Given the description of an element on the screen output the (x, y) to click on. 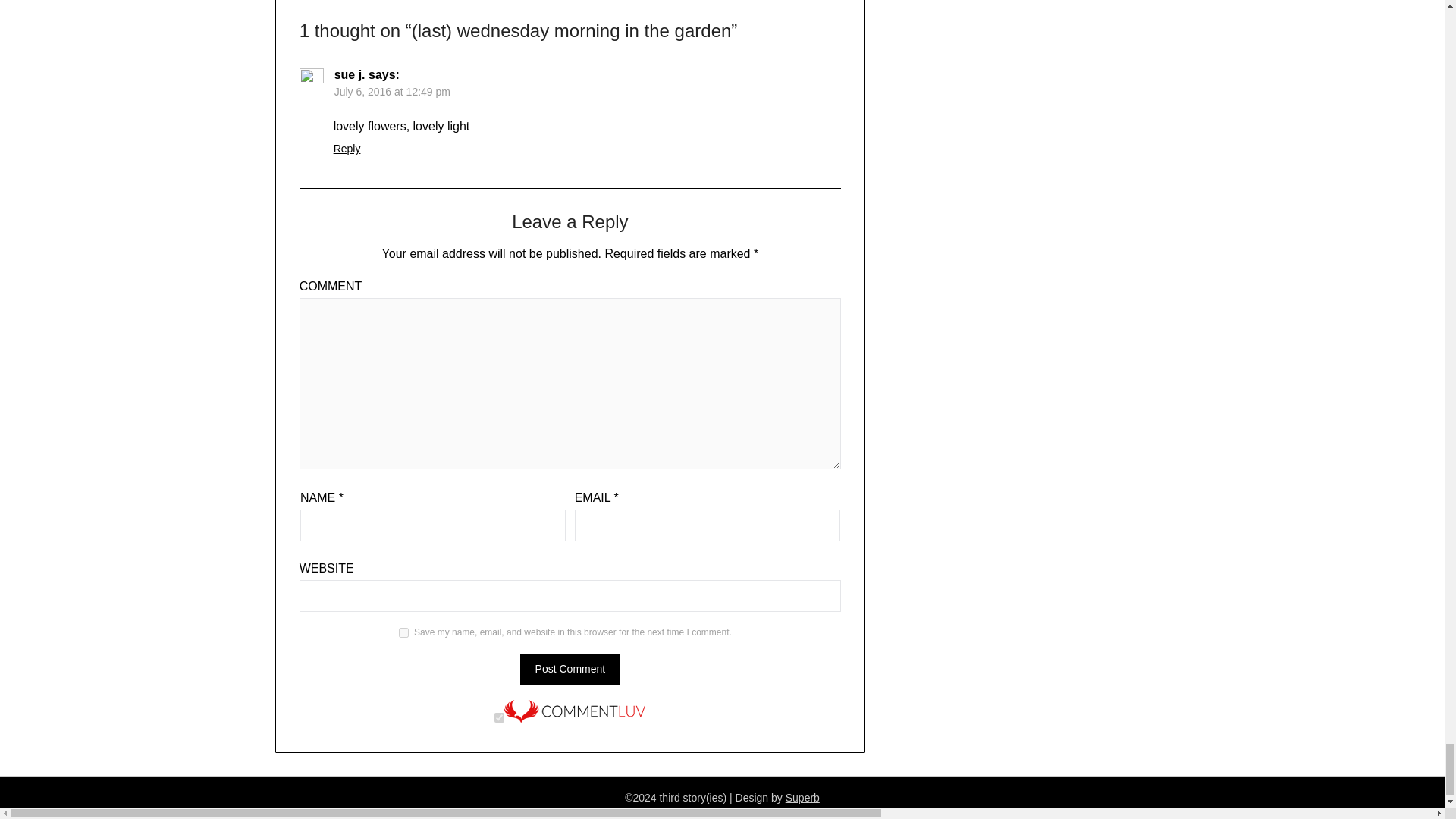
on (499, 717)
yes (403, 633)
Post Comment (570, 668)
July 6, 2016 at 12:49 pm (391, 91)
Reply (347, 148)
